Given the description of an element on the screen output the (x, y) to click on. 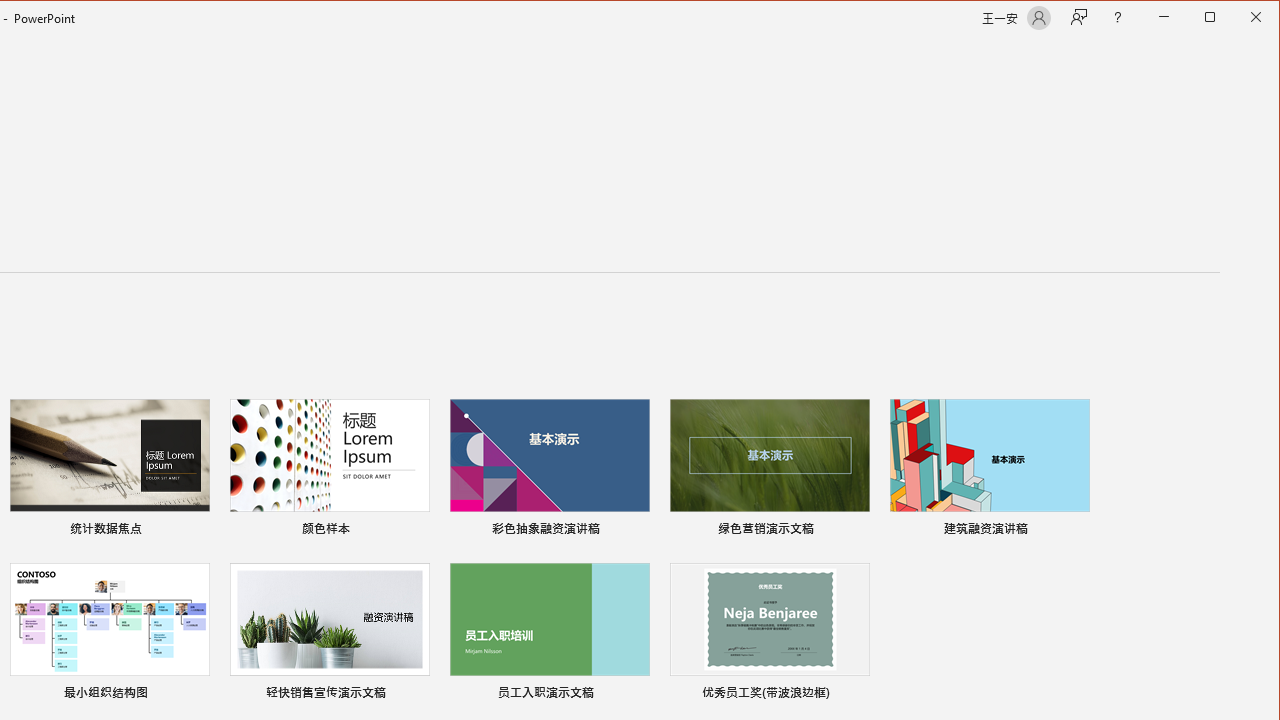
Pin to list (856, 695)
